Given the description of an element on the screen output the (x, y) to click on. 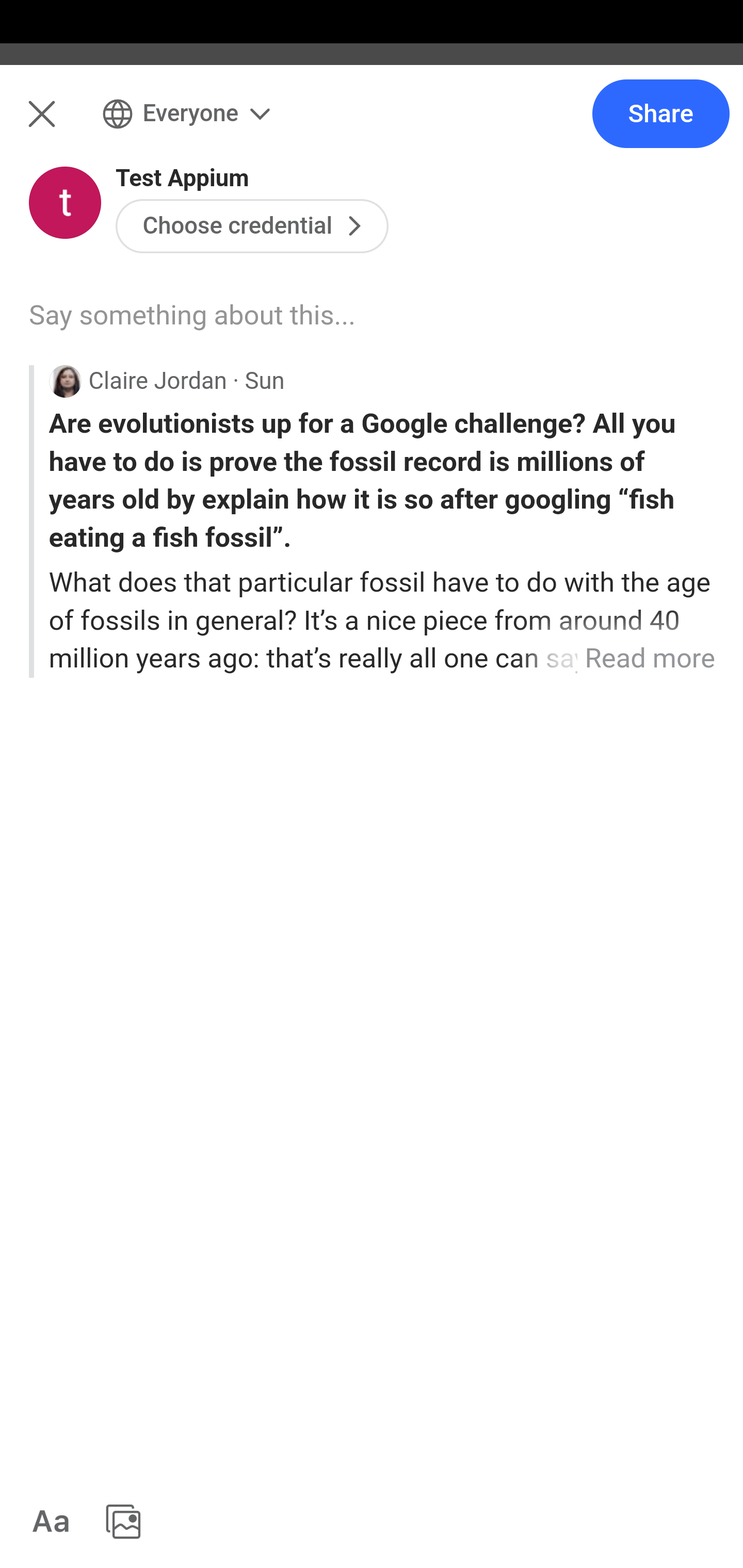
Me Home Search Add (371, 125)
Me (64, 125)
